Given the description of an element on the screen output the (x, y) to click on. 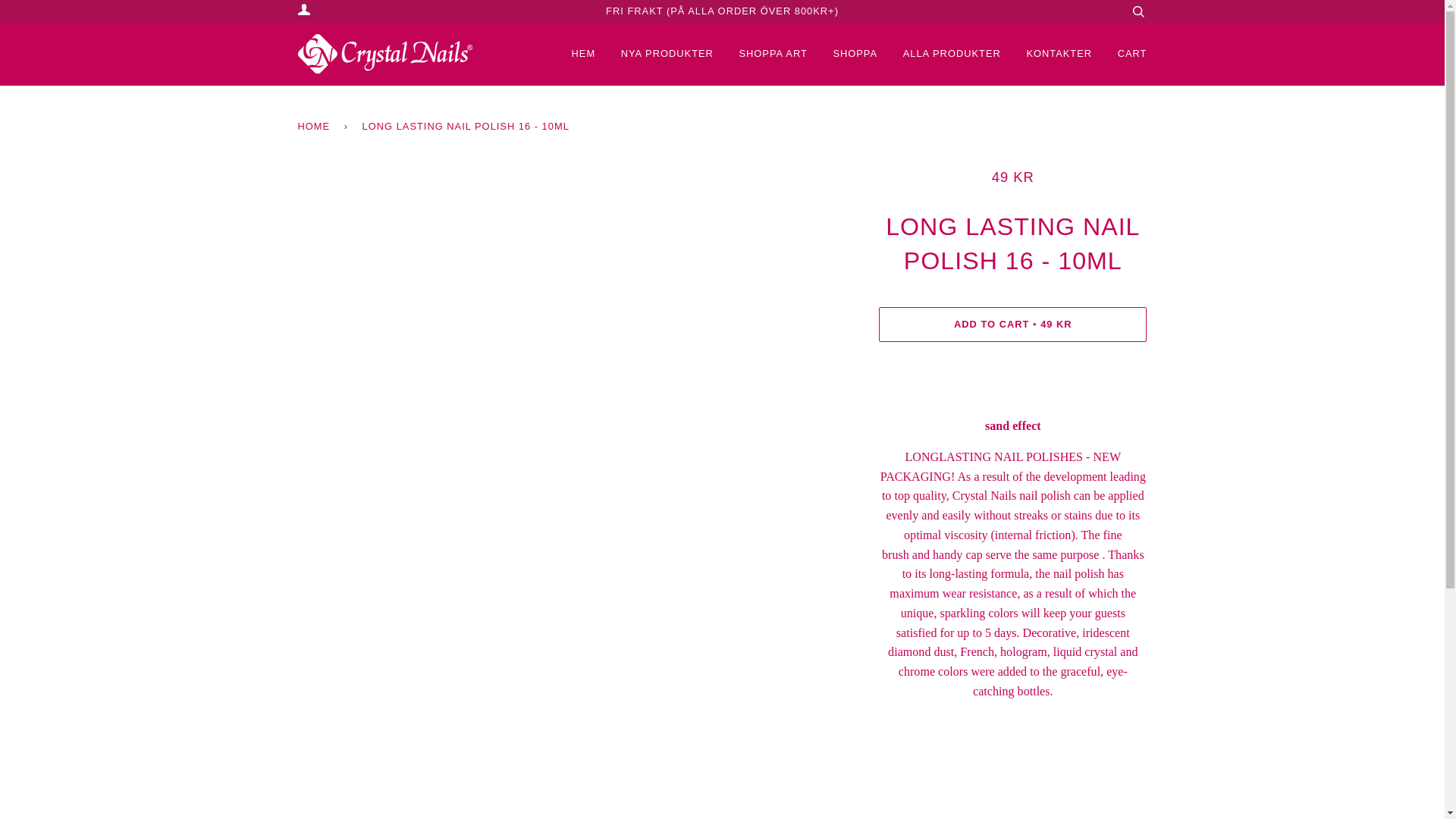
NYA PRODUKTER (655, 53)
Search (1137, 11)
SHOPPA ART (761, 53)
Back to the frontpage (315, 126)
SHOPPA (843, 53)
